Given the description of an element on the screen output the (x, y) to click on. 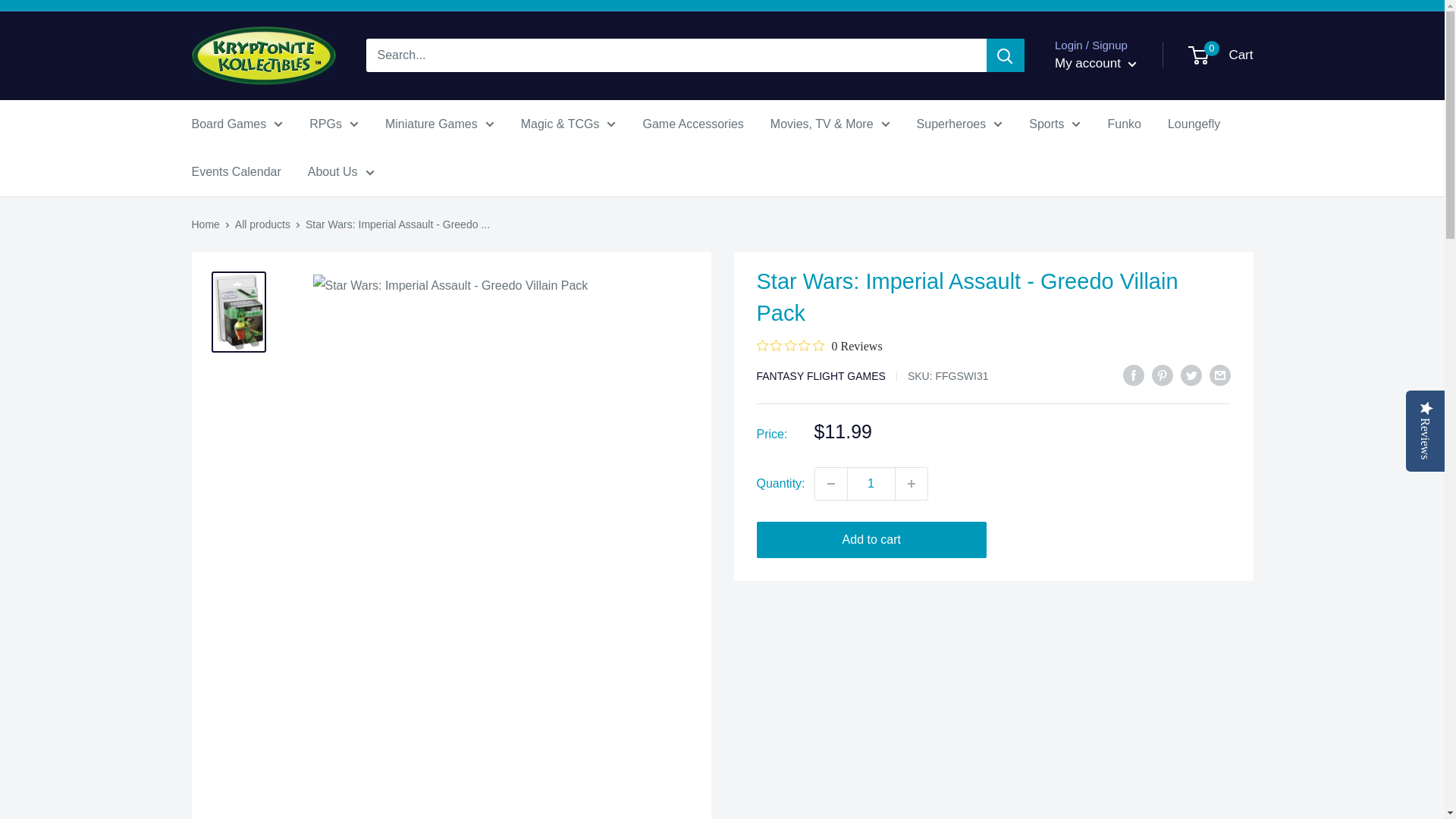
0 Reviews (819, 345)
Increase quantity by 1 (911, 482)
1 (871, 482)
Decrease quantity by 1 (831, 482)
